Given the description of an element on the screen output the (x, y) to click on. 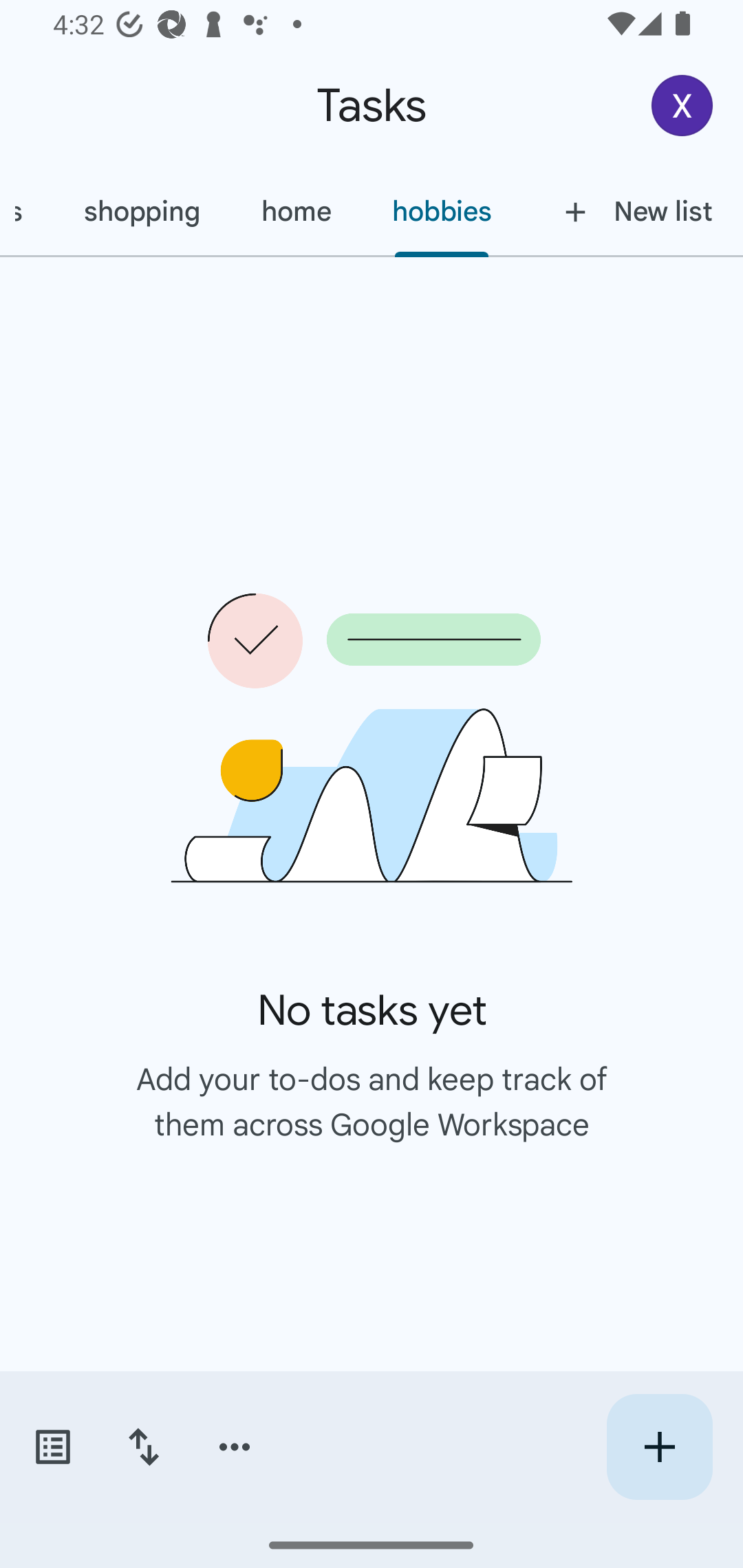
shopping (141, 211)
home (295, 211)
New list (632, 211)
Switch task lists (52, 1447)
Create new task (659, 1446)
Change sort order (143, 1446)
More options (234, 1446)
